Given the description of an element on the screen output the (x, y) to click on. 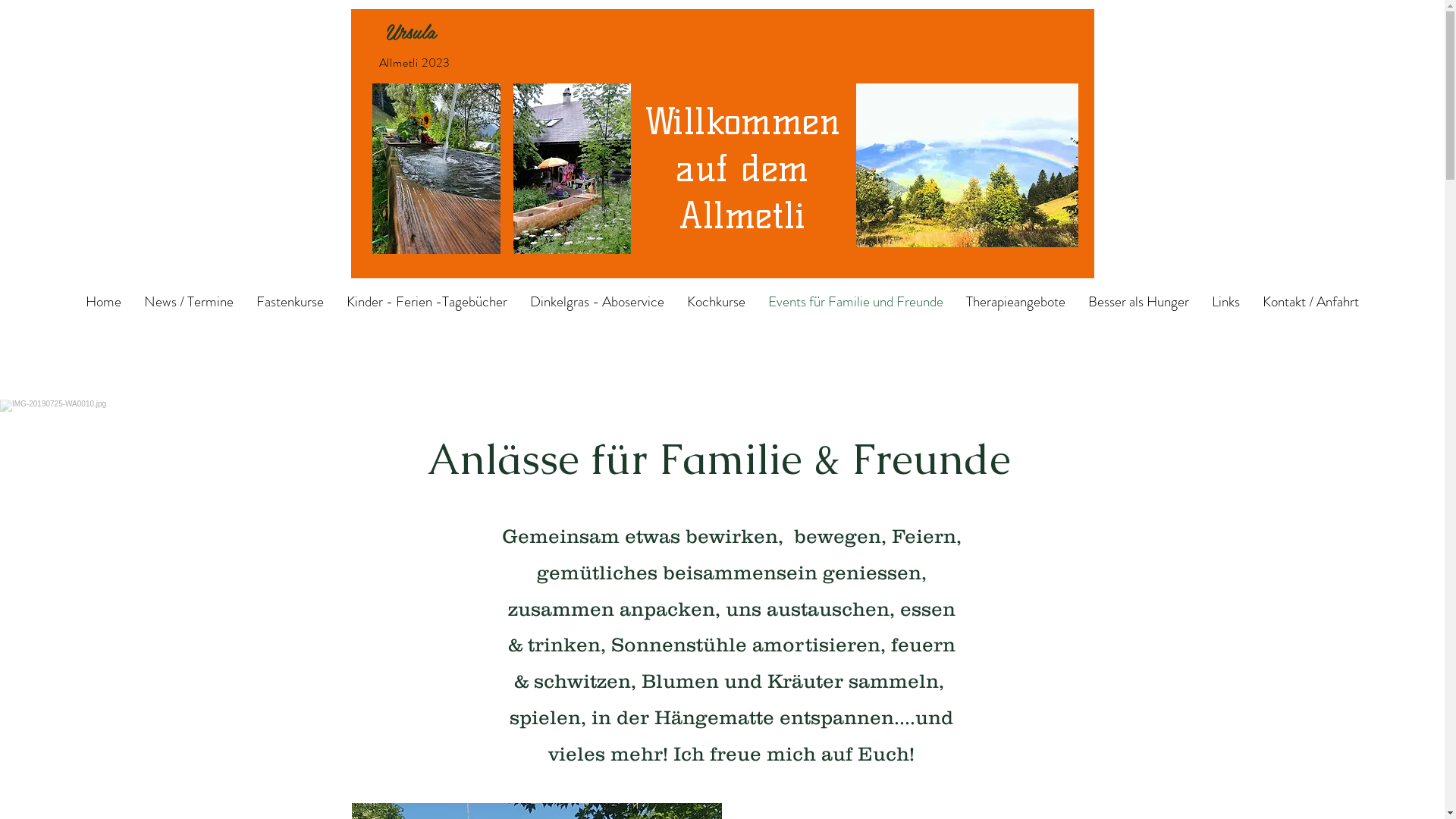
Home Element type: text (103, 301)
Therapieangebote Element type: text (1015, 301)
Kontakt / Anfahrt Element type: text (1310, 301)
Dinkelgras - Aboservice Element type: text (596, 301)
  Ursula Element type: text (403, 30)
Allmetli 2023 Element type: text (414, 62)
Besser als Hunger Element type: text (1138, 301)
Links Element type: text (1225, 301)
Kochkurse Element type: text (715, 301)
News / Termine Element type: text (188, 301)
Fastenkurse Element type: text (289, 301)
